Given the description of an element on the screen output the (x, y) to click on. 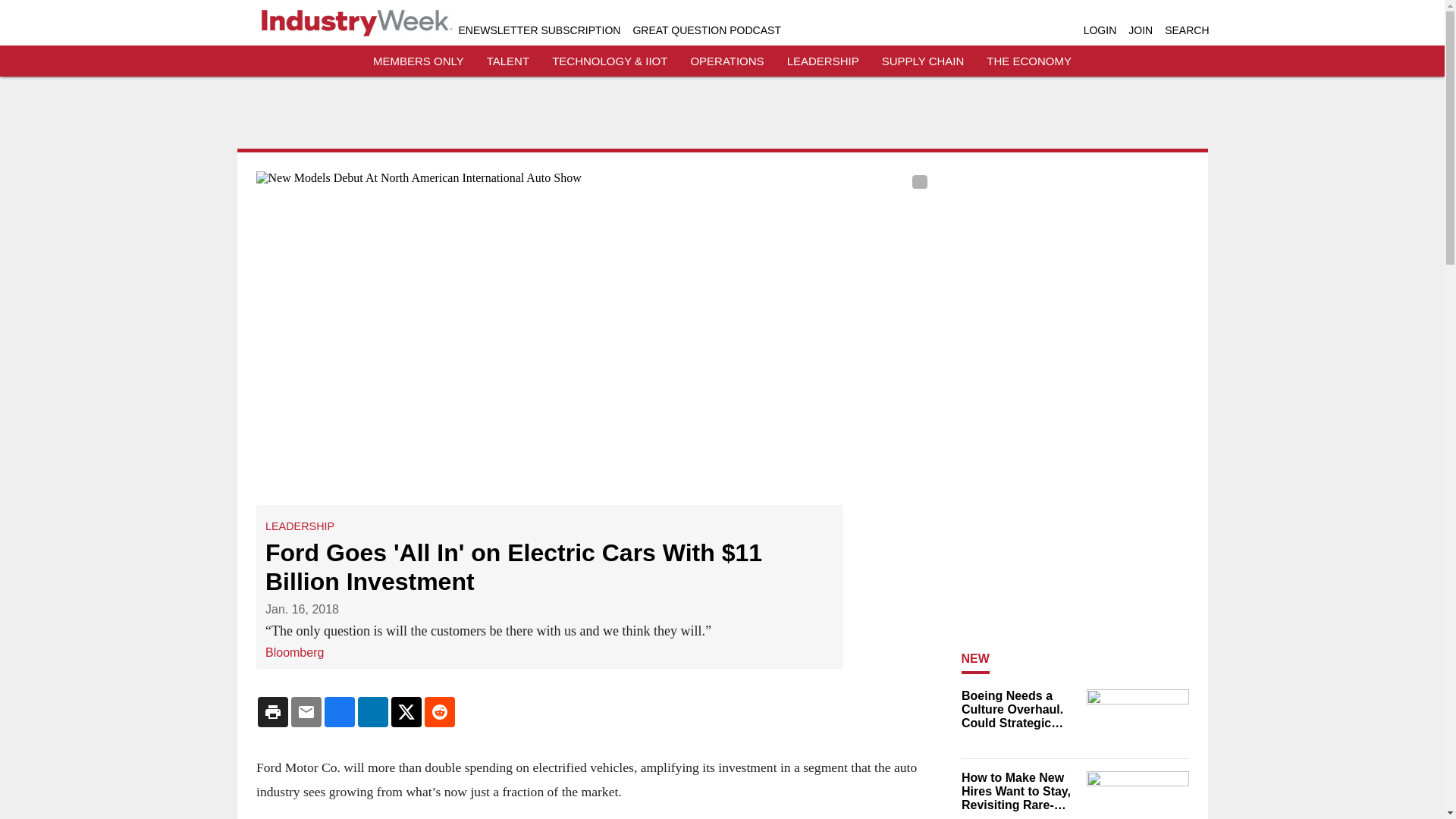
ENEWSLETTER SUBSCRIPTION (539, 30)
OPERATIONS (726, 60)
SEARCH (1186, 30)
TALENT (507, 60)
THE ECONOMY (1029, 60)
GREAT QUESTION PODCAST (705, 30)
LOGIN (1099, 30)
SUPPLY CHAIN (922, 60)
LEADERSHIP (823, 60)
LEADERSHIP (299, 526)
